Given the description of an element on the screen output the (x, y) to click on. 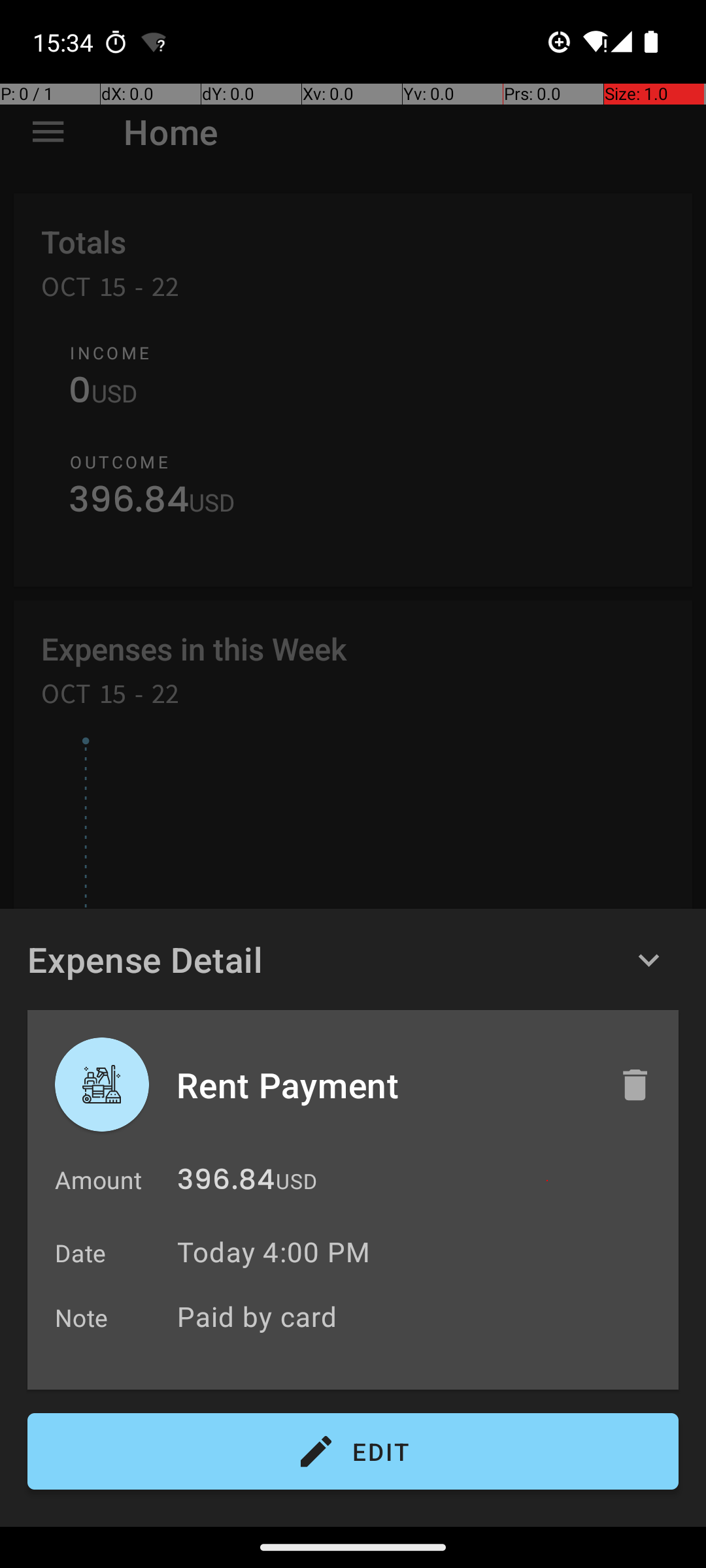
Rent Payment Element type: android.widget.TextView (383, 1084)
396.84 Element type: android.widget.TextView (225, 1182)
Today 4:00 PM Element type: android.widget.TextView (273, 1251)
